Given the description of an element on the screen output the (x, y) to click on. 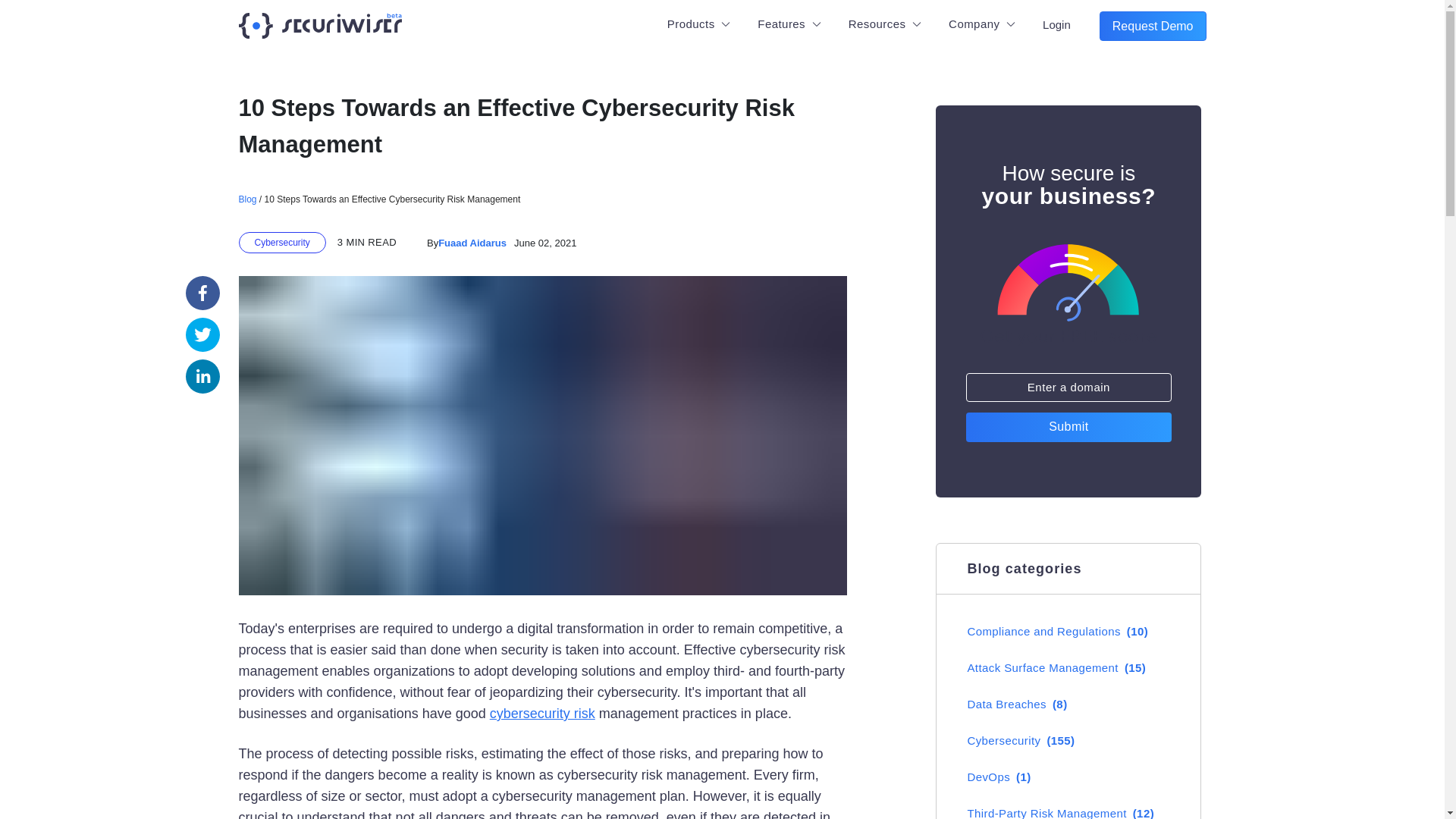
Cybersecurity (281, 242)
Products (698, 24)
Blog (247, 199)
Request Demo (1153, 25)
Login (1056, 24)
Features (788, 24)
Company (981, 24)
cybersecurity risk (542, 713)
Fuaad Aidarus (472, 242)
Resources (884, 24)
